Given the description of an element on the screen output the (x, y) to click on. 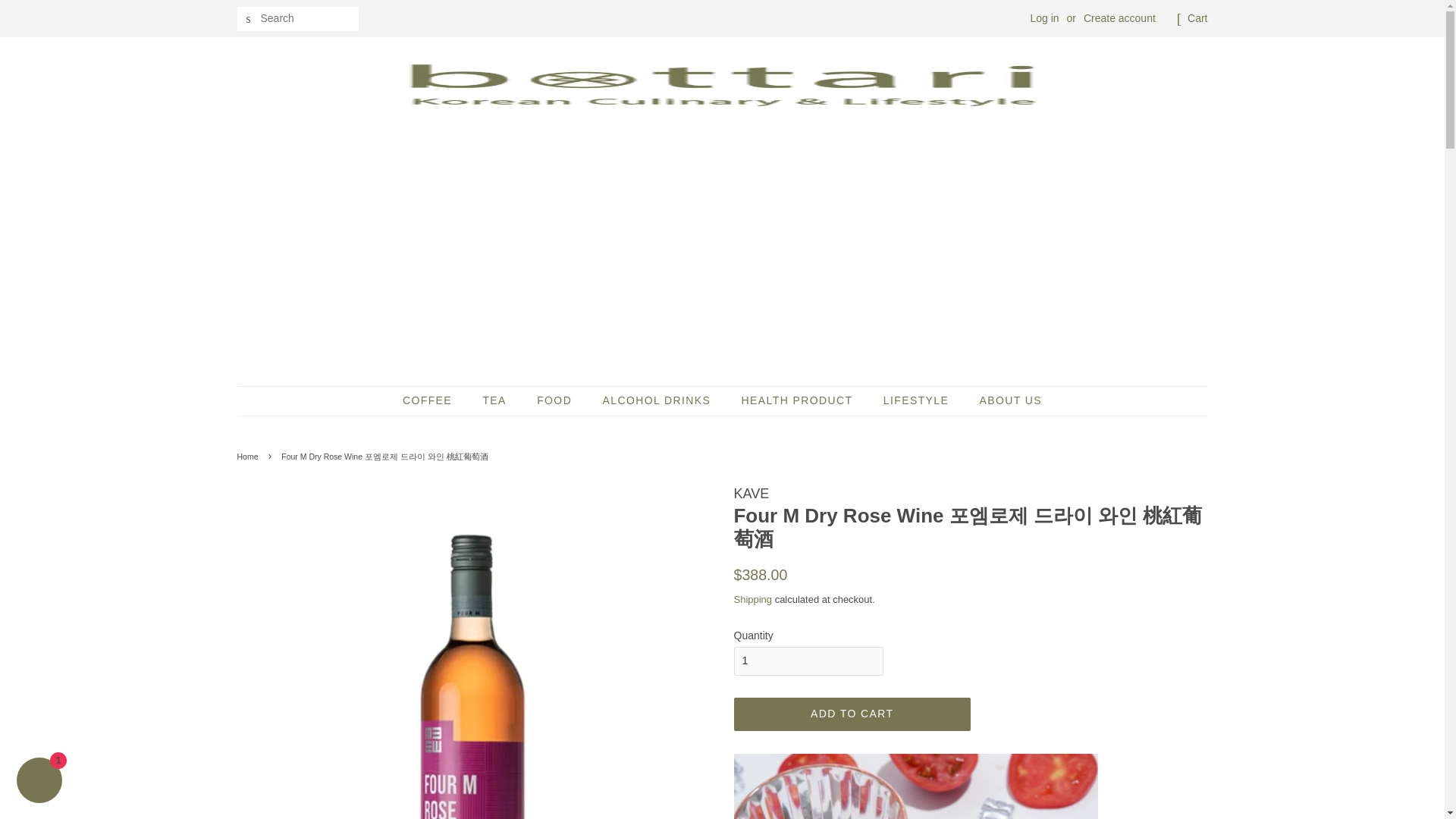
HEALTH PRODUCT (798, 400)
1 (808, 661)
Cart (1197, 18)
Log in (1043, 18)
Back to the frontpage (248, 456)
ADD TO CART (852, 714)
ABOUT US (1005, 400)
FOOD (555, 400)
Home (248, 456)
ALCOHOL DRINKS (658, 400)
LIFESTYLE (917, 400)
SEARCH (247, 18)
Shopify online store chat (38, 781)
Shipping (753, 599)
COFFEE (435, 400)
